Given the description of an element on the screen output the (x, y) to click on. 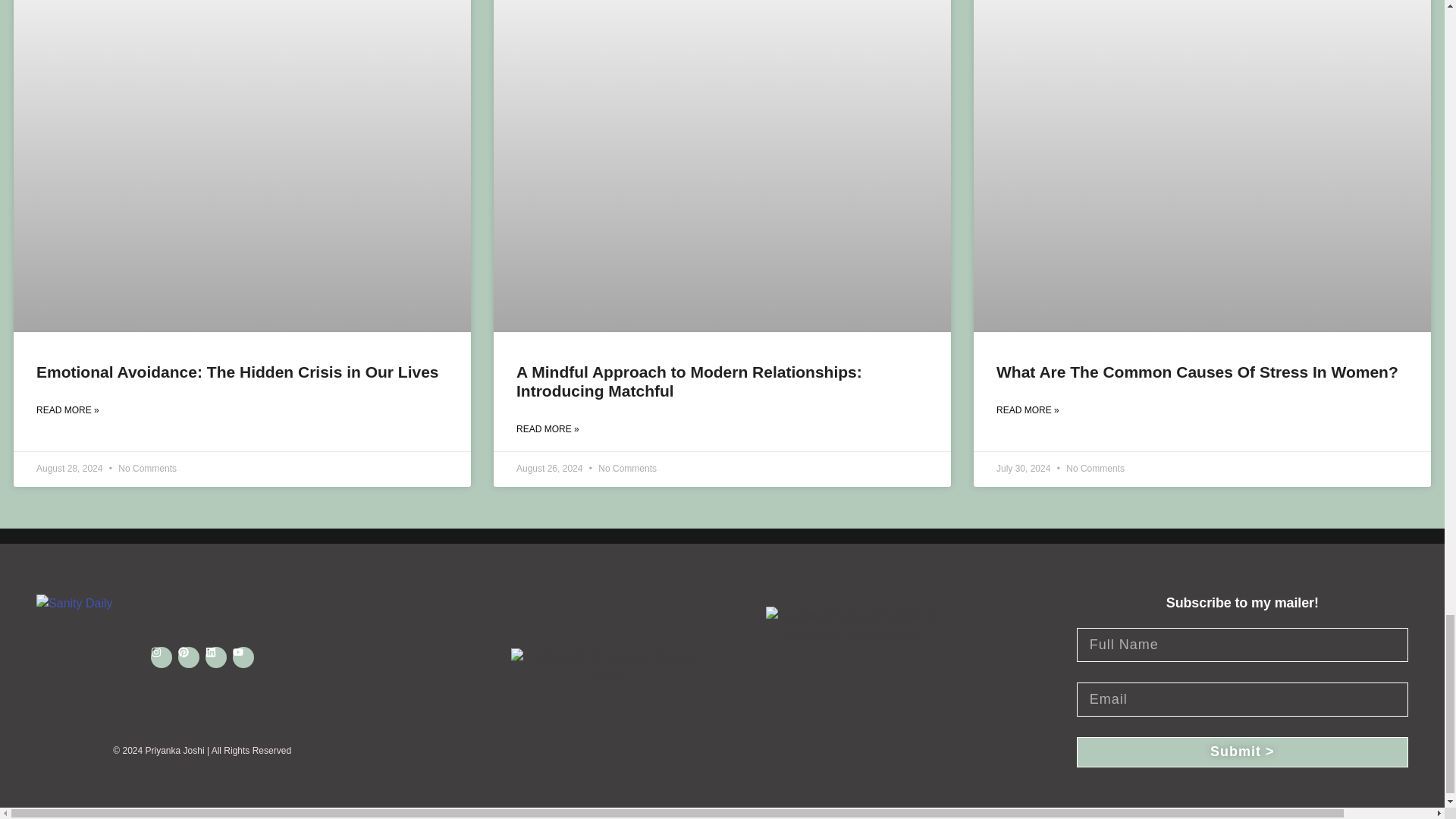
What Are The Common Causes Of Stress In Women? (1196, 371)
Emotional Avoidance: The Hidden Crisis in Our Lives  (239, 371)
